Given the description of an element on the screen output the (x, y) to click on. 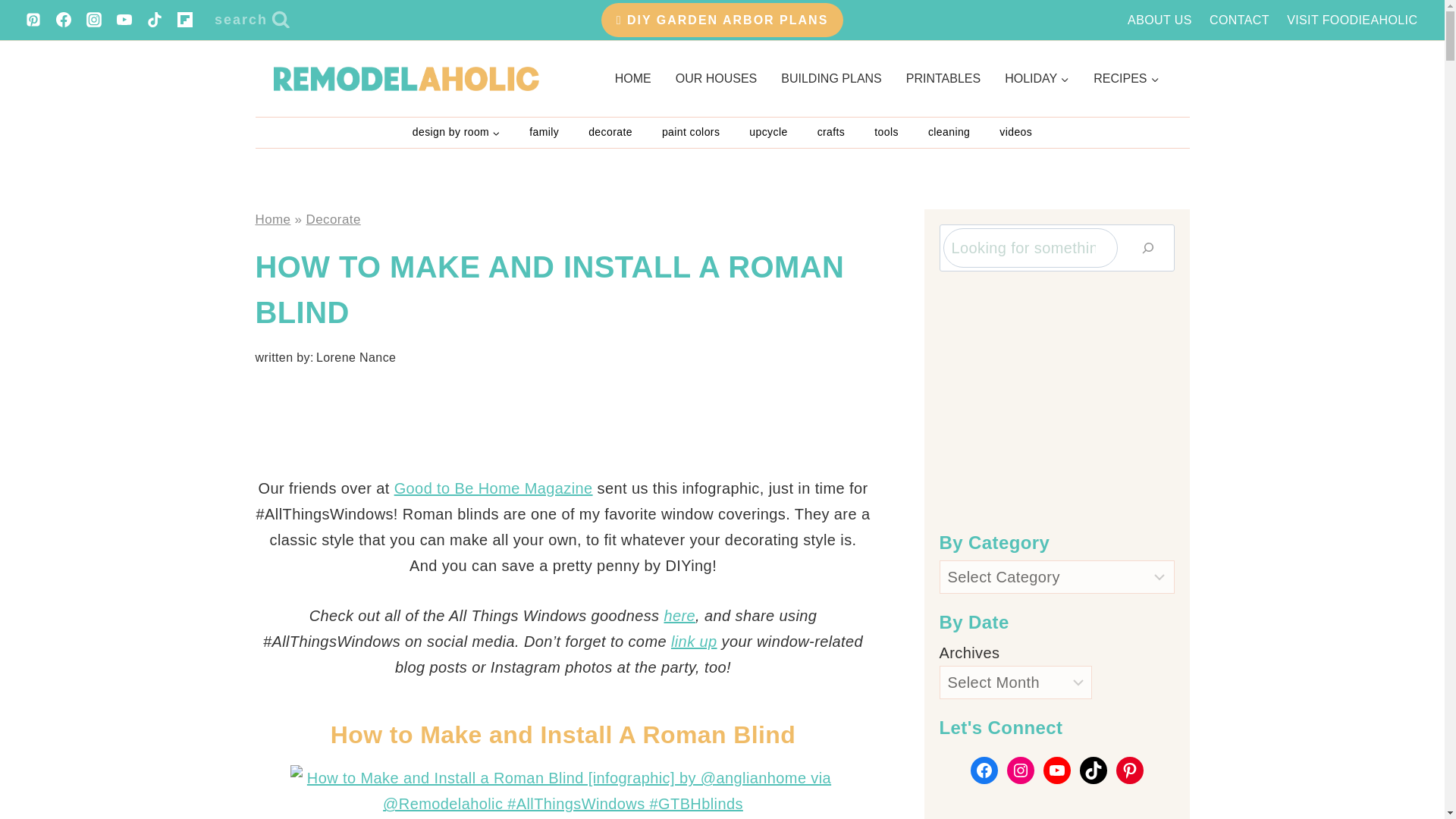
BUILDING PLANS (830, 78)
CONTACT (1238, 19)
ABOUT US (1160, 19)
PRINTABLES (942, 78)
search (252, 19)
VISIT FOODIEAHOLIC (1352, 19)
RECIPES (1125, 78)
OUR HOUSES (716, 78)
HOLIDAY (1036, 78)
HOME (632, 78)
